Given the description of an element on the screen output the (x, y) to click on. 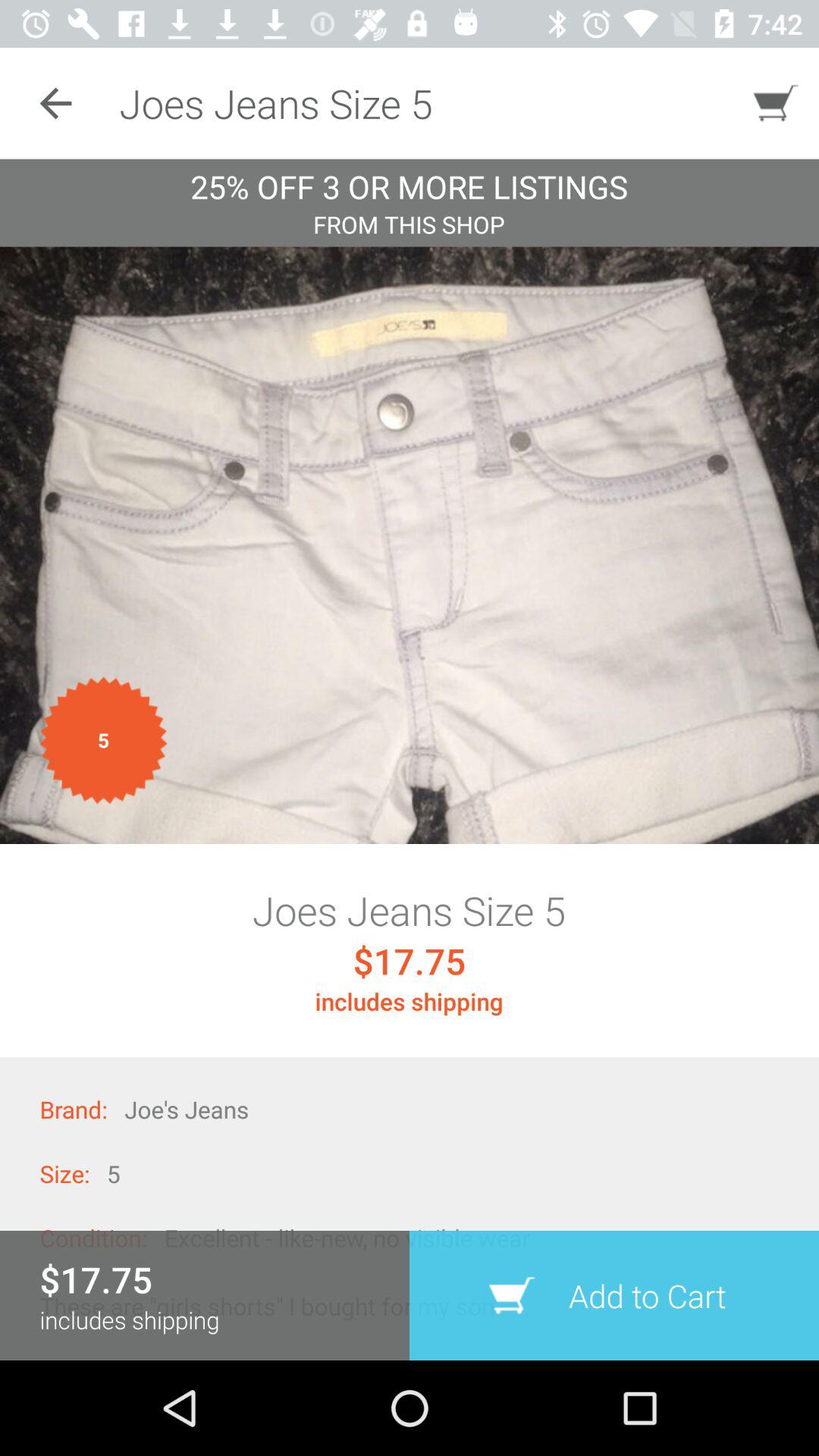
choose the icon above the joes jeans size (409, 545)
